Given the description of an element on the screen output the (x, y) to click on. 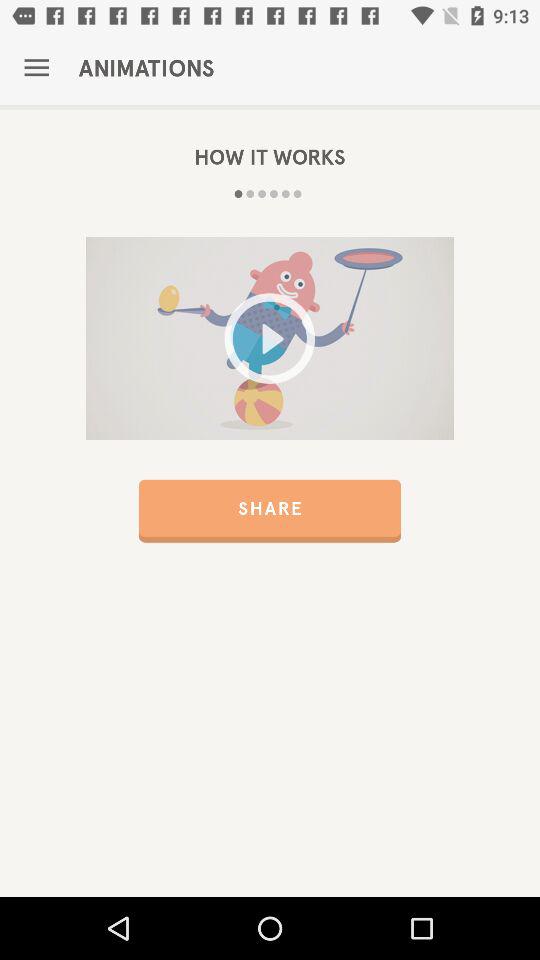
turn on the icon above share (269, 338)
